Given the description of an element on the screen output the (x, y) to click on. 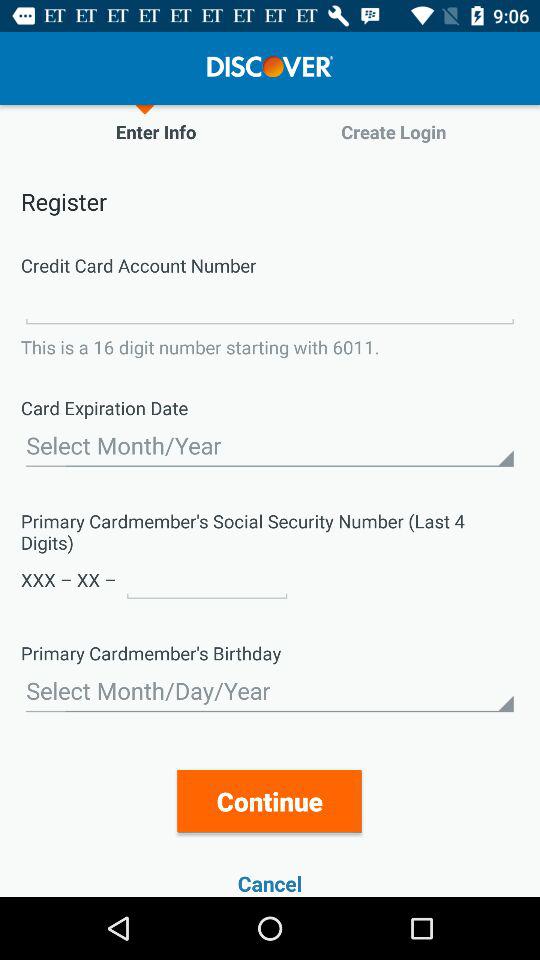
launch the item below continue (269, 884)
